Given the description of an element on the screen output the (x, y) to click on. 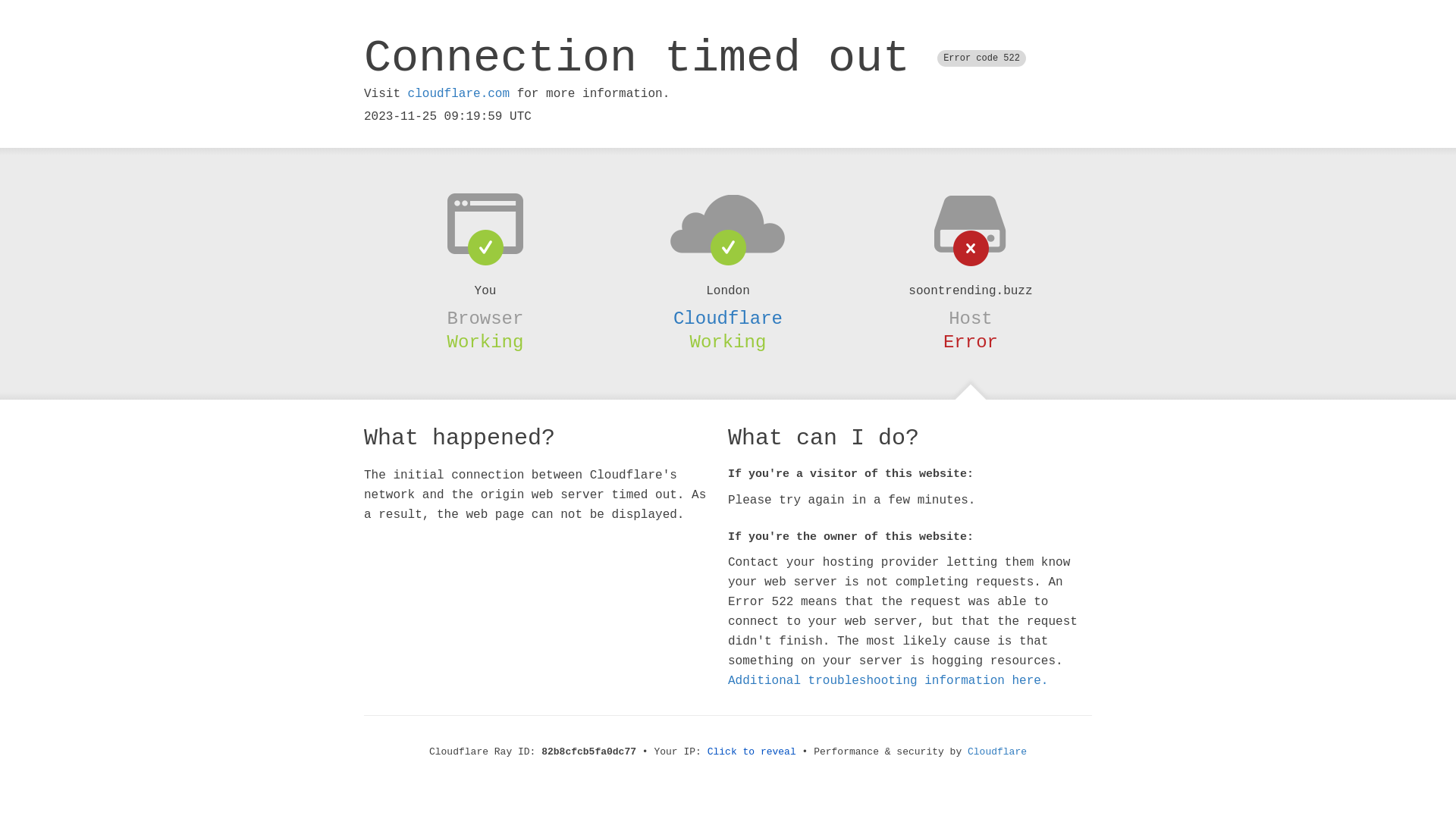
cloudflare.com Element type: text (458, 93)
Cloudflare Element type: text (996, 751)
Cloudflare Element type: text (727, 318)
Additional troubleshooting information here. Element type: text (888, 680)
Click to reveal Element type: text (751, 751)
